Given the description of an element on the screen output the (x, y) to click on. 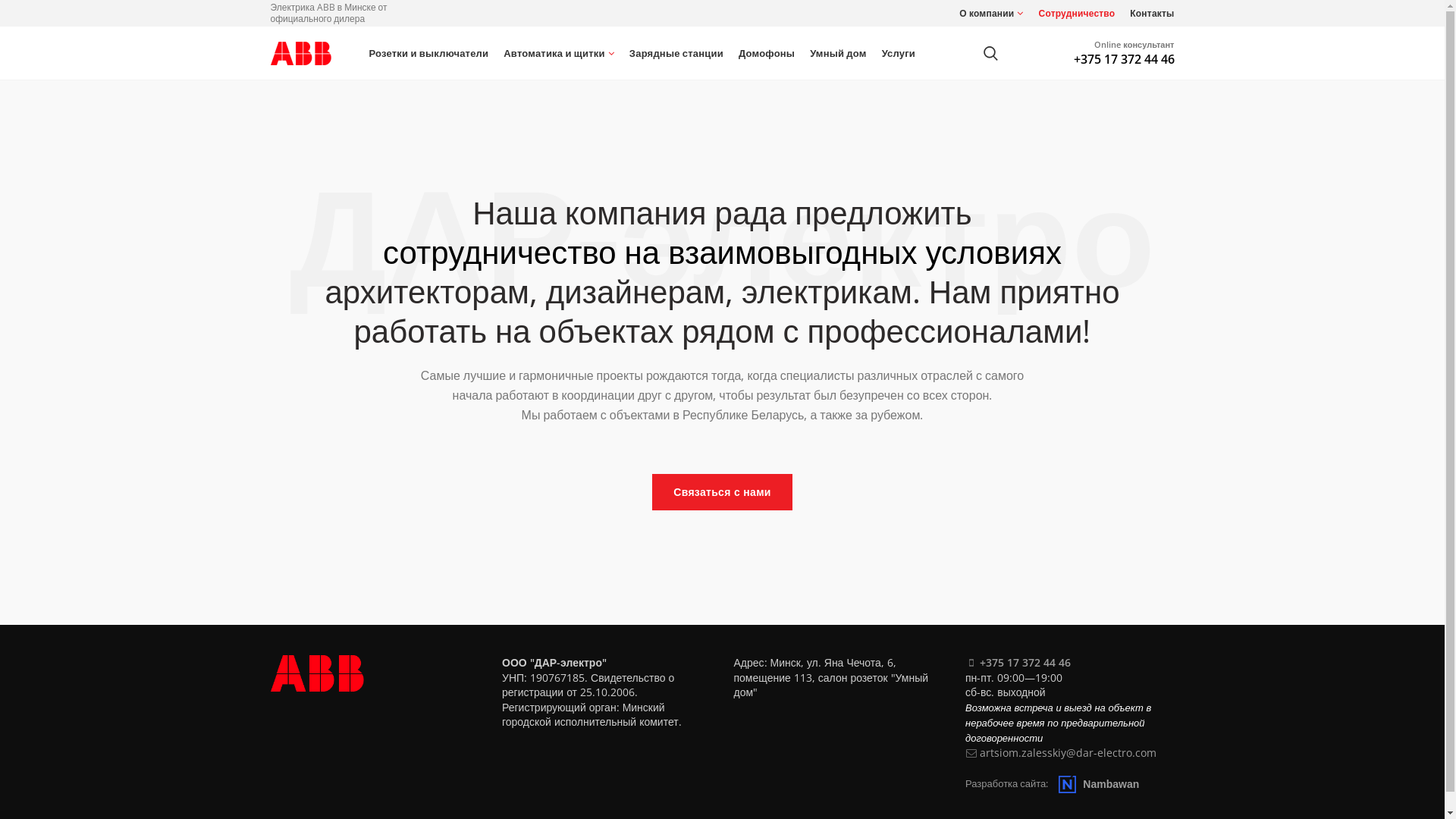
+375 17 372 44 46 Element type: text (1024, 662)
artsiom.zalesskiy@dar-electro.com Element type: text (1067, 752)
Nambawan Element type: text (1098, 782)
